Given the description of an element on the screen output the (x, y) to click on. 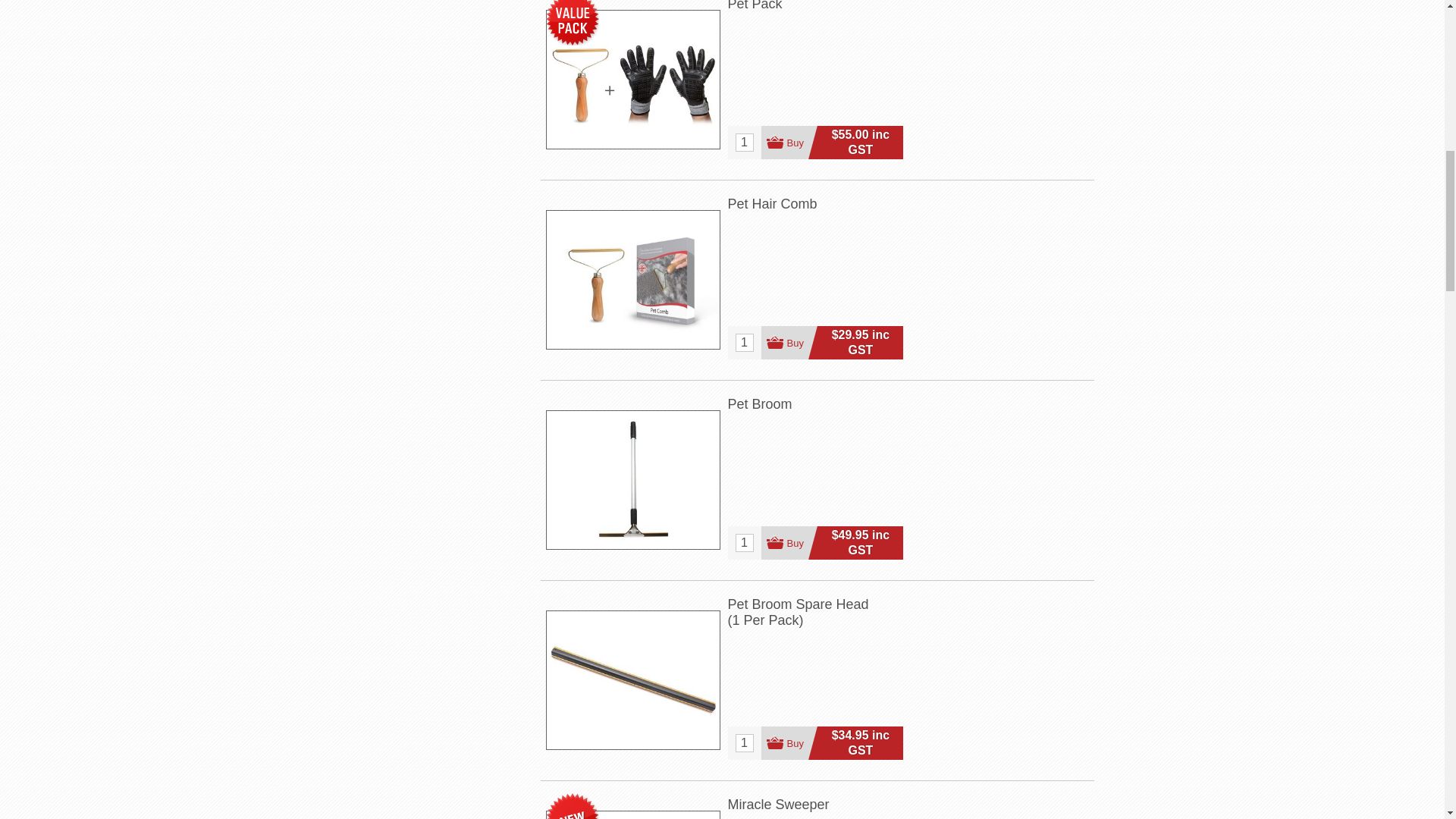
Buy (788, 542)
1 (744, 742)
1 (744, 142)
Buy (788, 342)
1 (744, 342)
Buy (788, 142)
1 (744, 542)
Buy (788, 743)
